Given the description of an element on the screen output the (x, y) to click on. 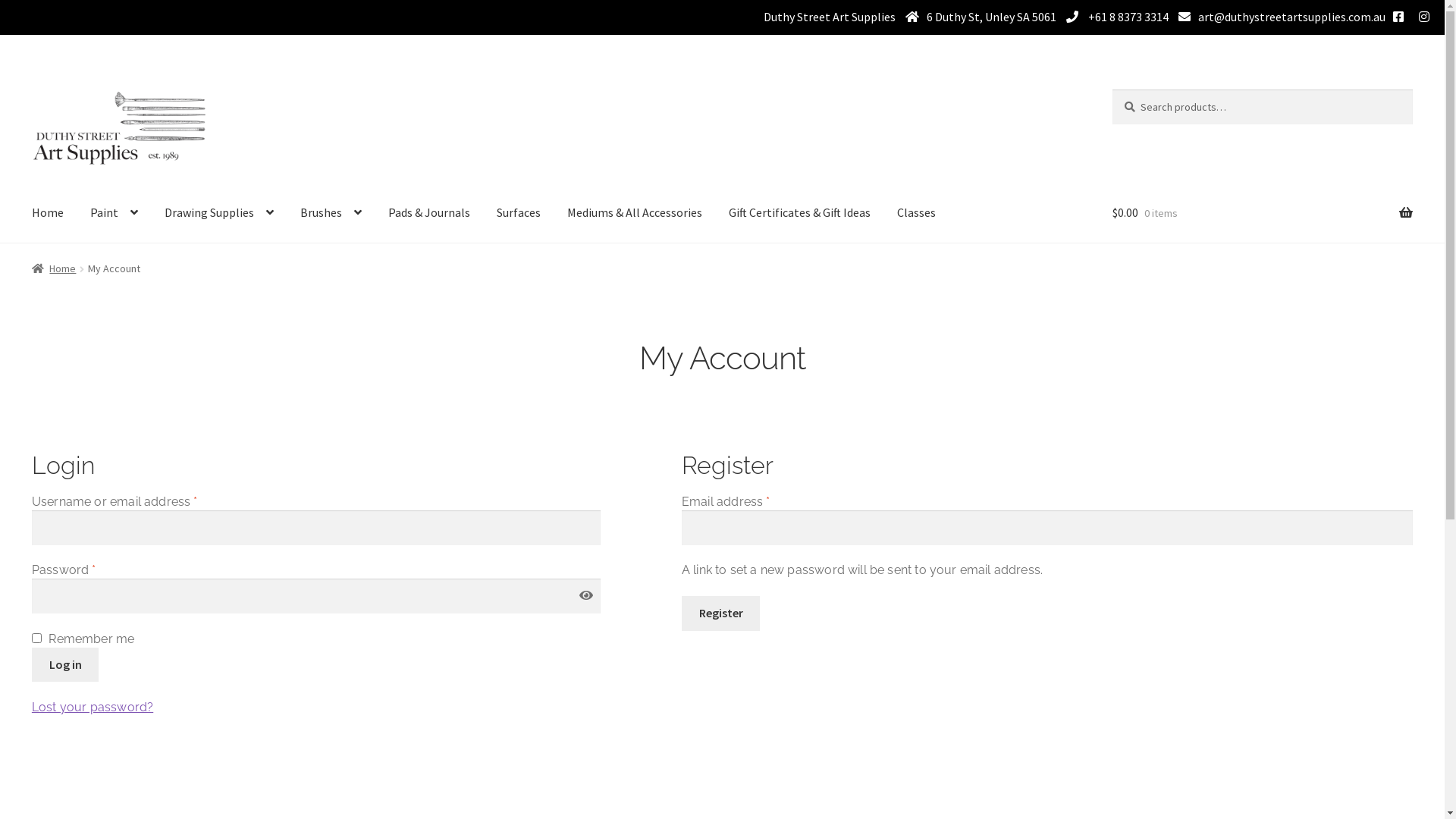
Gift Certificates & Gift Ideas Element type: text (799, 212)
Surfaces Element type: text (518, 212)
Pads & Journals Element type: text (429, 212)
art@duthystreetartsupplies.com.au Element type: text (1291, 16)
Lost your password? Element type: text (92, 706)
+61 8 8373 3314 Element type: text (1126, 16)
Home Element type: text (47, 212)
Search Element type: text (1111, 88)
Register Element type: text (720, 613)
Log in Element type: text (64, 664)
Paint Element type: text (114, 212)
Home Element type: text (53, 268)
Brushes Element type: text (330, 212)
Drawing Supplies Element type: text (218, 212)
Skip to navigation Element type: text (31, 88)
$0.00 0 items Element type: text (1262, 212)
Classes Element type: text (915, 212)
Mediums & All Accessories Element type: text (634, 212)
